Given the description of an element on the screen output the (x, y) to click on. 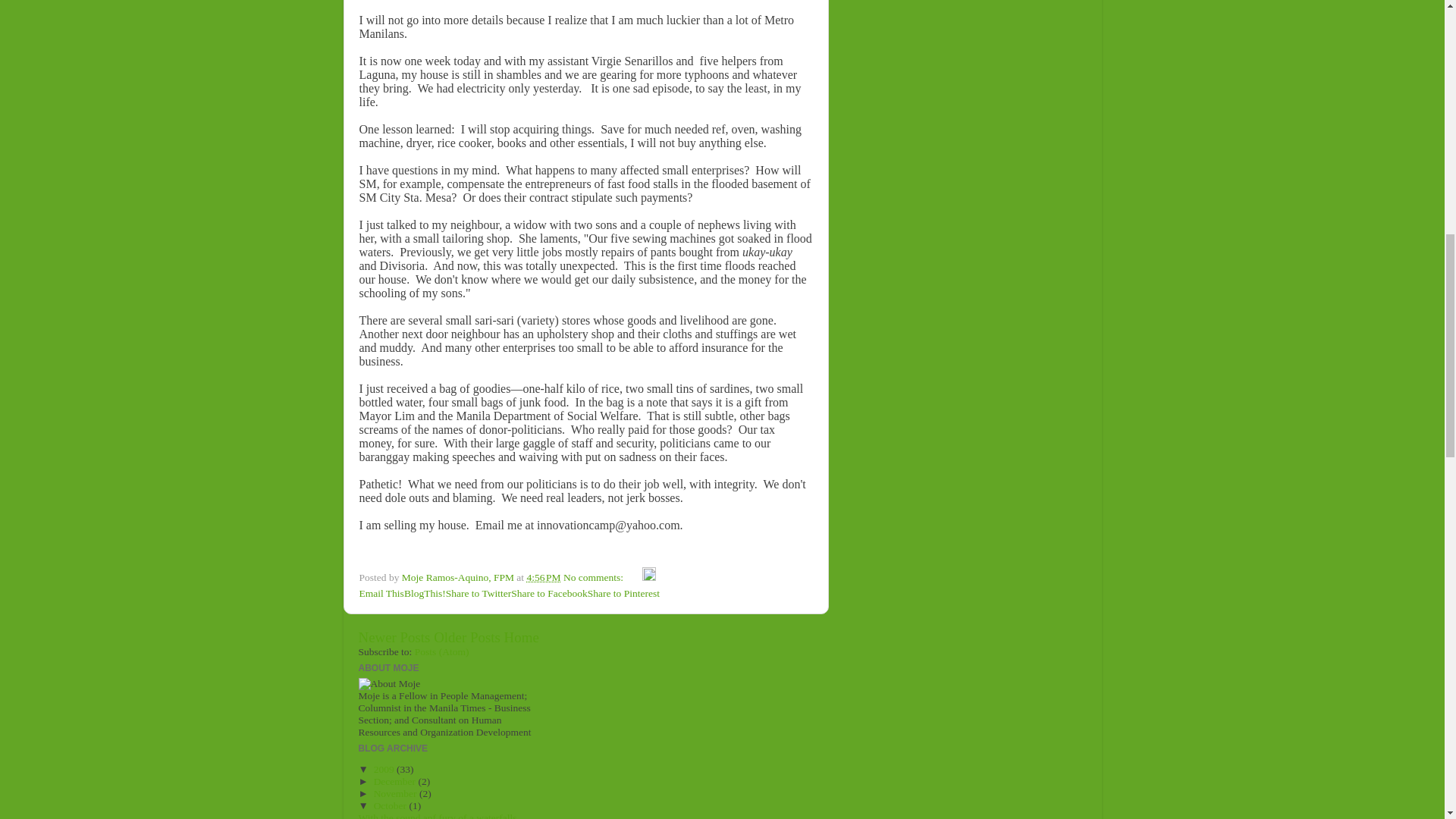
Moje Ramos-Aquino, FPM (458, 577)
Older Posts (466, 637)
November (396, 793)
Home (520, 637)
author profile (458, 577)
Newer Posts (393, 637)
No comments: (594, 577)
Email This (381, 593)
Share to Twitter (478, 593)
Email This (381, 593)
Share to Twitter (478, 593)
BlogThis! (424, 593)
December (396, 781)
October (391, 805)
